Given the description of an element on the screen output the (x, y) to click on. 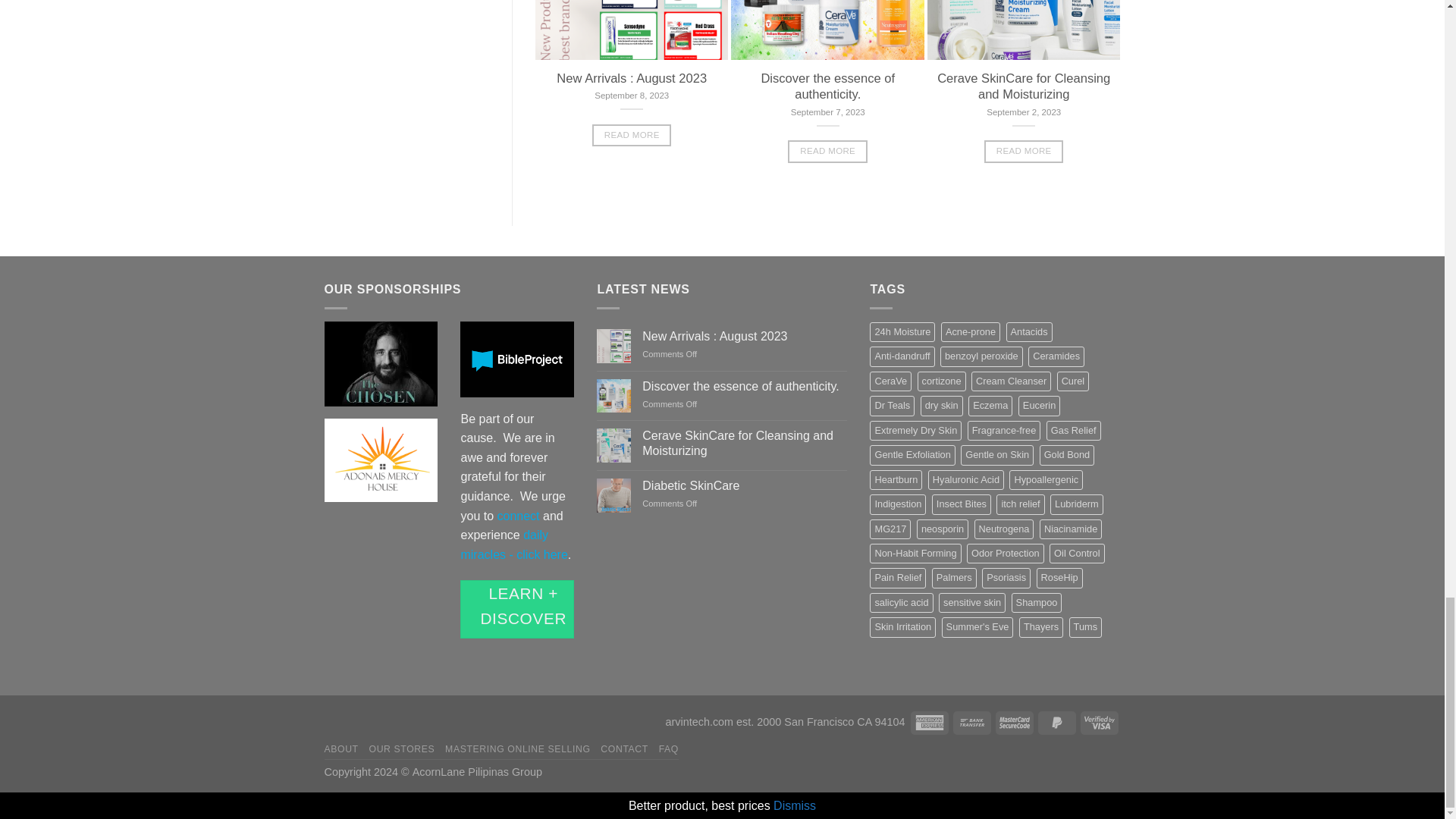
Diabetic SkinCare (744, 485)
New Arrivals : August 2023 (744, 336)
Cerave SkinCare for Cleansing and Moisturizing (744, 442)
Discover the essence of authenticity. (744, 386)
